Given the description of an element on the screen output the (x, y) to click on. 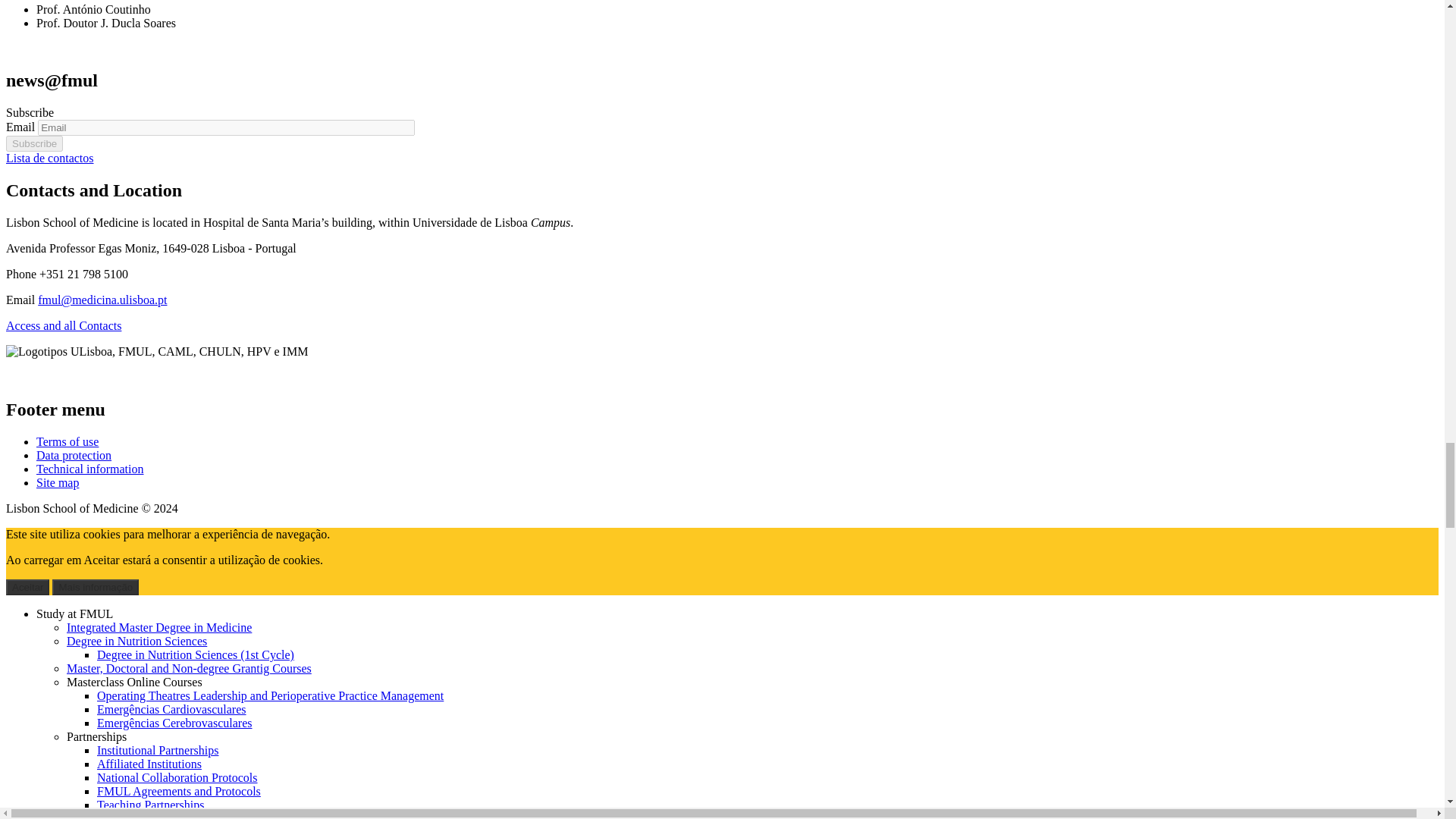
The subscriber's email address. (225, 127)
